Given the description of an element on the screen output the (x, y) to click on. 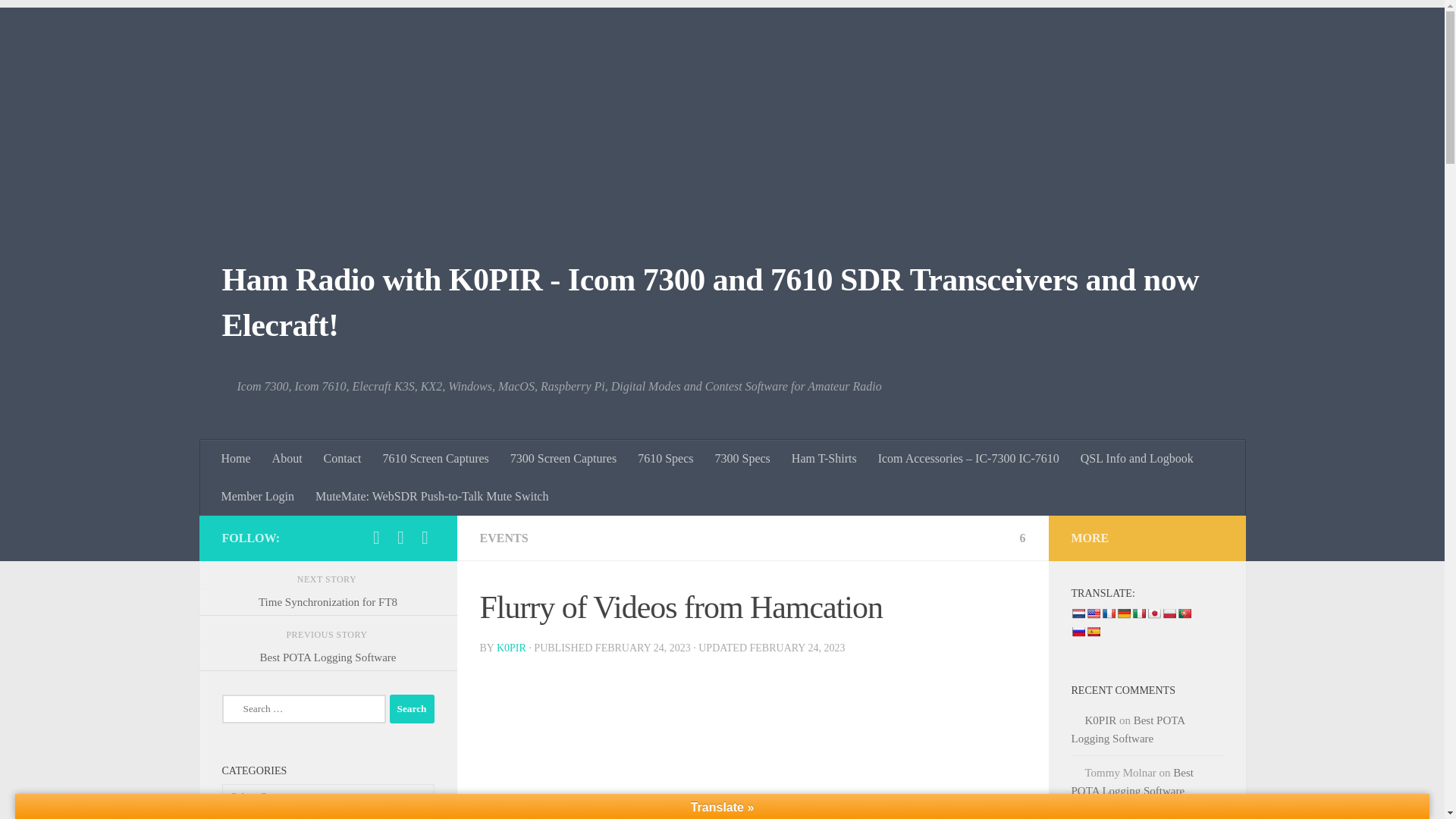
7300 Specs (742, 458)
K0PIR (510, 647)
EVENTS (503, 537)
Skip to content (59, 20)
7300 Screen Captures (563, 458)
Contact (342, 458)
QSL Info and Logbook (1137, 458)
About (287, 458)
7610 Specs (665, 458)
7610 Screen Captures (435, 458)
